Given the description of an element on the screen output the (x, y) to click on. 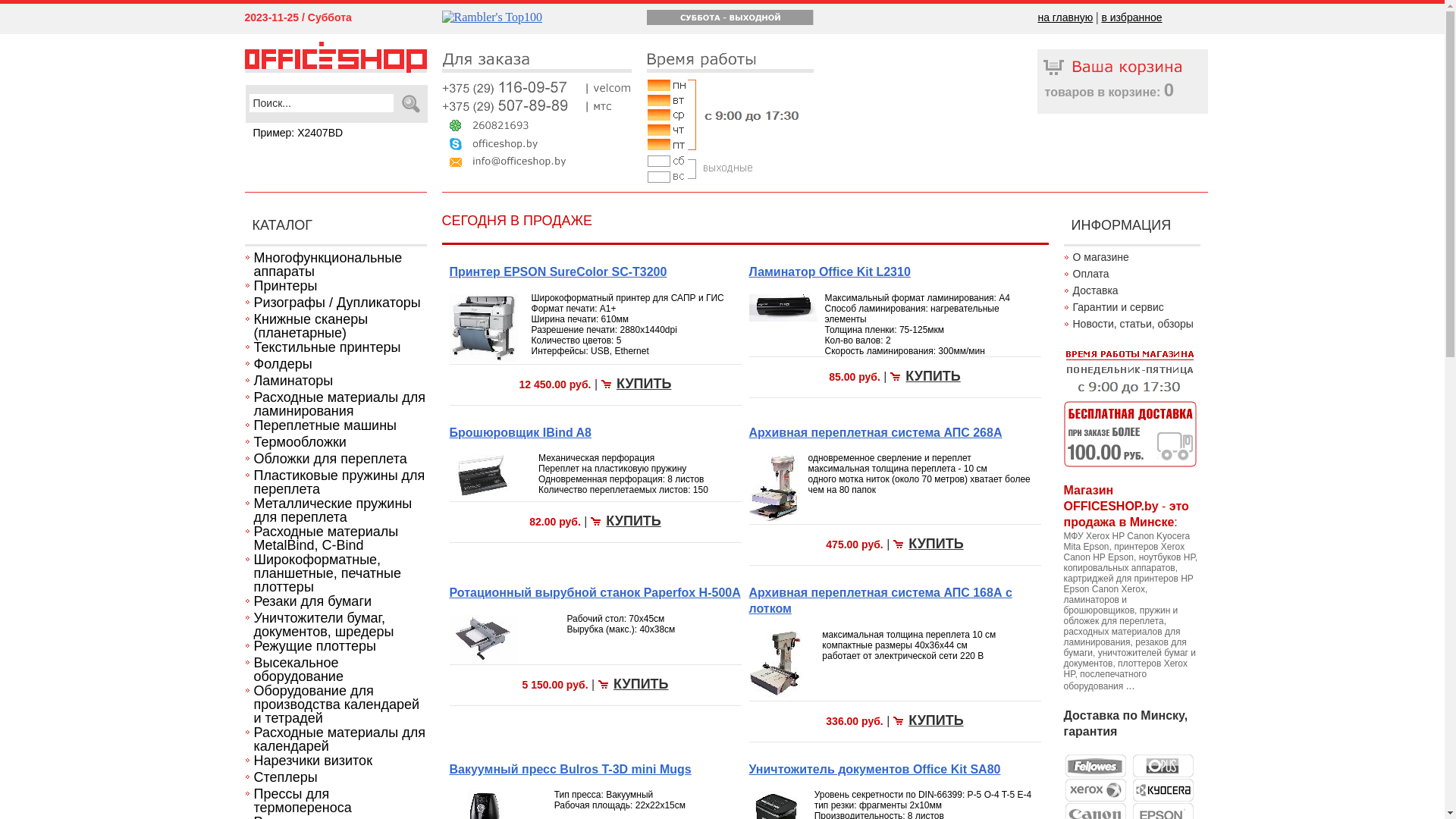
+375 (29) 116-09-57 Element type: text (535, 87)
... Element type: text (1130, 685)
+375 (29) 507-89-89 Element type: text (535, 105)
260821693 Element type: text (535, 123)
go Element type: text (412, 103)
info@officeshop.by Element type: text (535, 160)
officeshop.by Element type: text (535, 141)
